Given the description of an element on the screen output the (x, y) to click on. 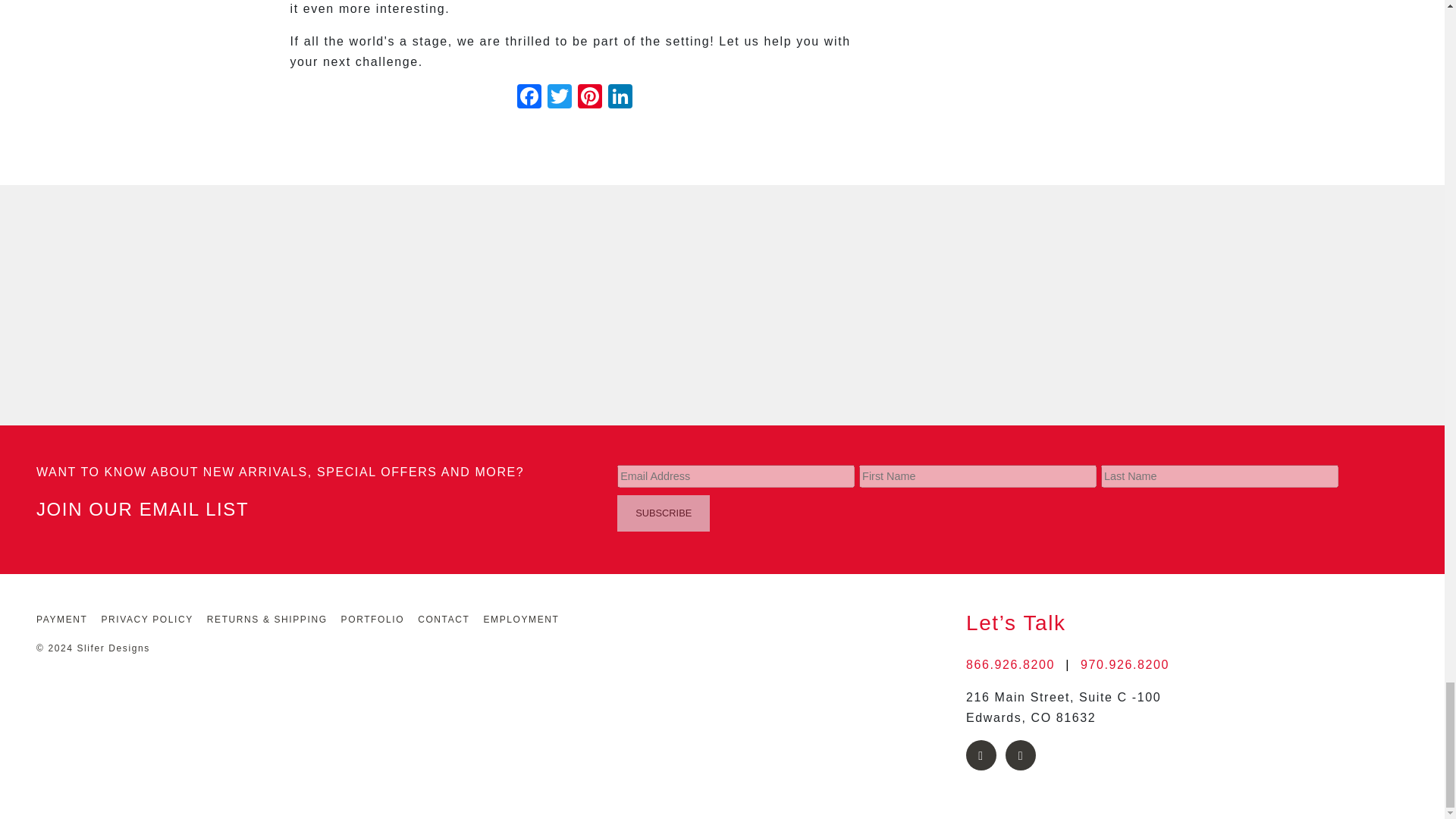
Facebook (528, 98)
Pinterest (590, 98)
Facebook (528, 98)
Twitter (559, 98)
Subscribe (663, 512)
LinkedIn (619, 98)
Pinterest (590, 98)
LinkedIn (619, 98)
Twitter (559, 98)
